Given the description of an element on the screen output the (x, y) to click on. 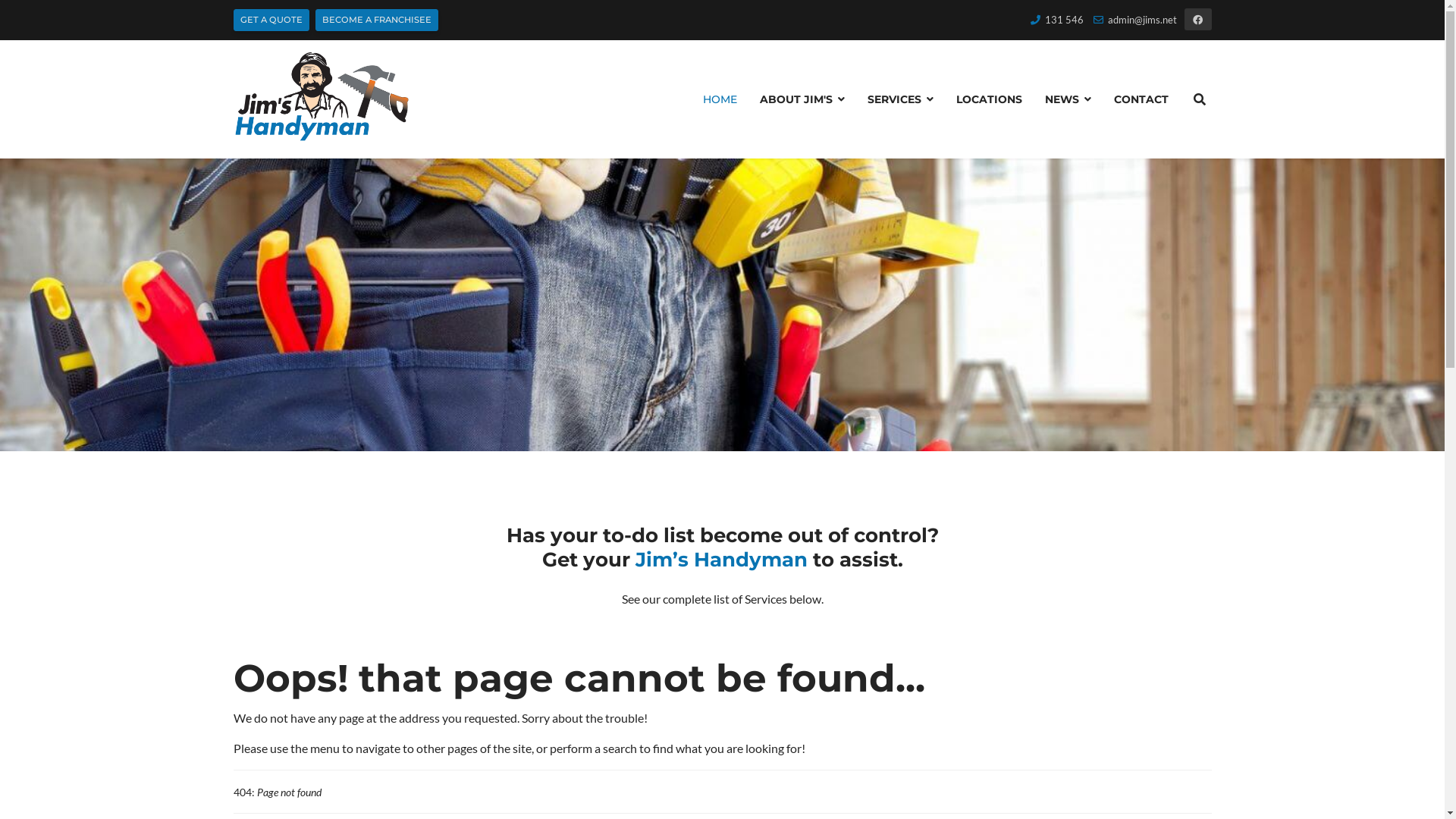
HOME Element type: text (719, 99)
NEWS Element type: text (1066, 99)
LOCATIONS Element type: text (988, 99)
CONTACT Element type: text (1135, 99)
SERVICES Element type: text (899, 99)
ABOUT JIM'S Element type: text (801, 99)
BECOME A FRANCHISEE Element type: text (376, 20)
admin@jims.net Element type: text (1141, 19)
GET A QUOTE Element type: text (271, 20)
131 546 Element type: text (1063, 19)
